Given the description of an element on the screen output the (x, y) to click on. 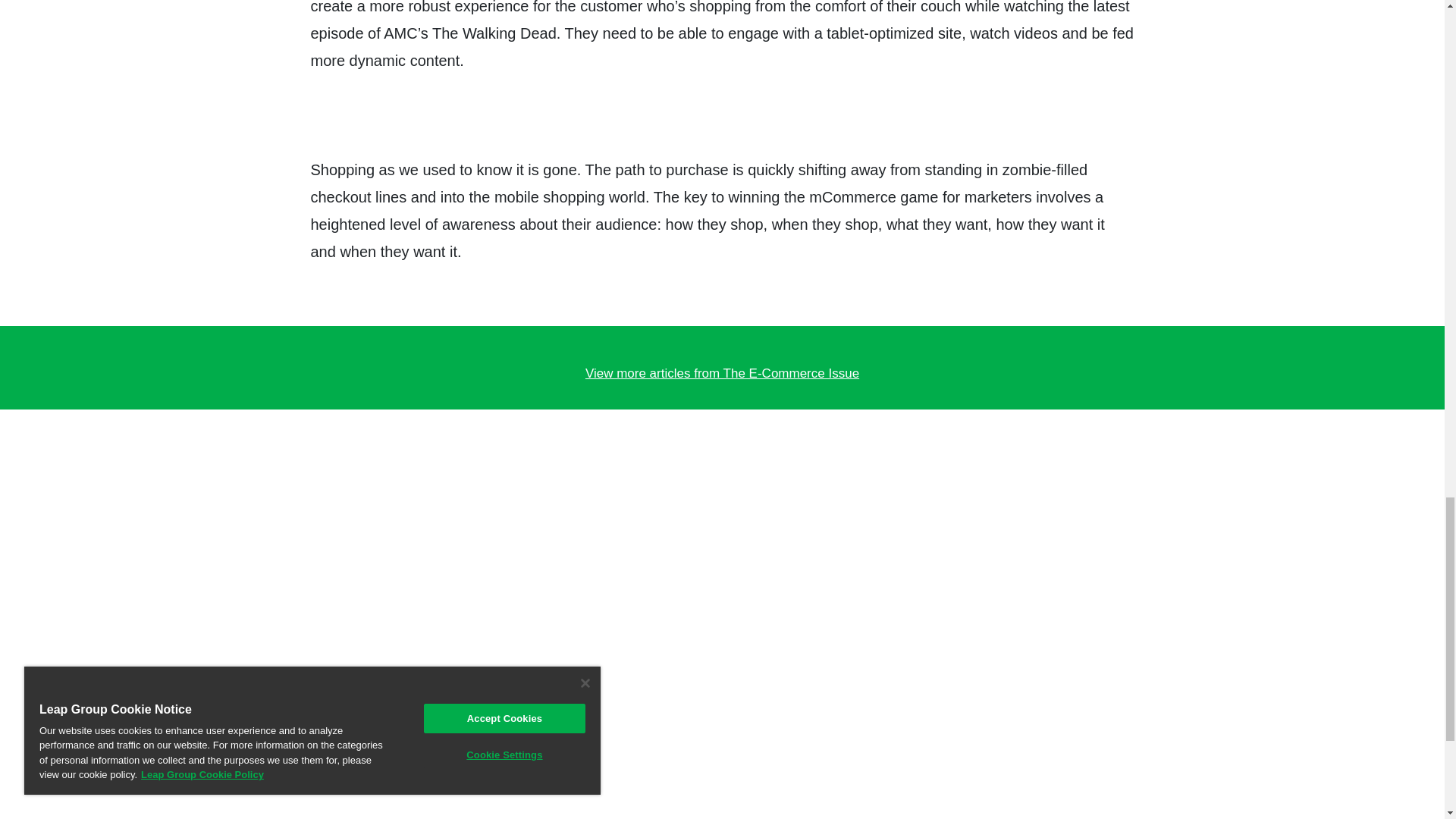
View more articles from The E-Commerce Issue (721, 373)
